Given the description of an element on the screen output the (x, y) to click on. 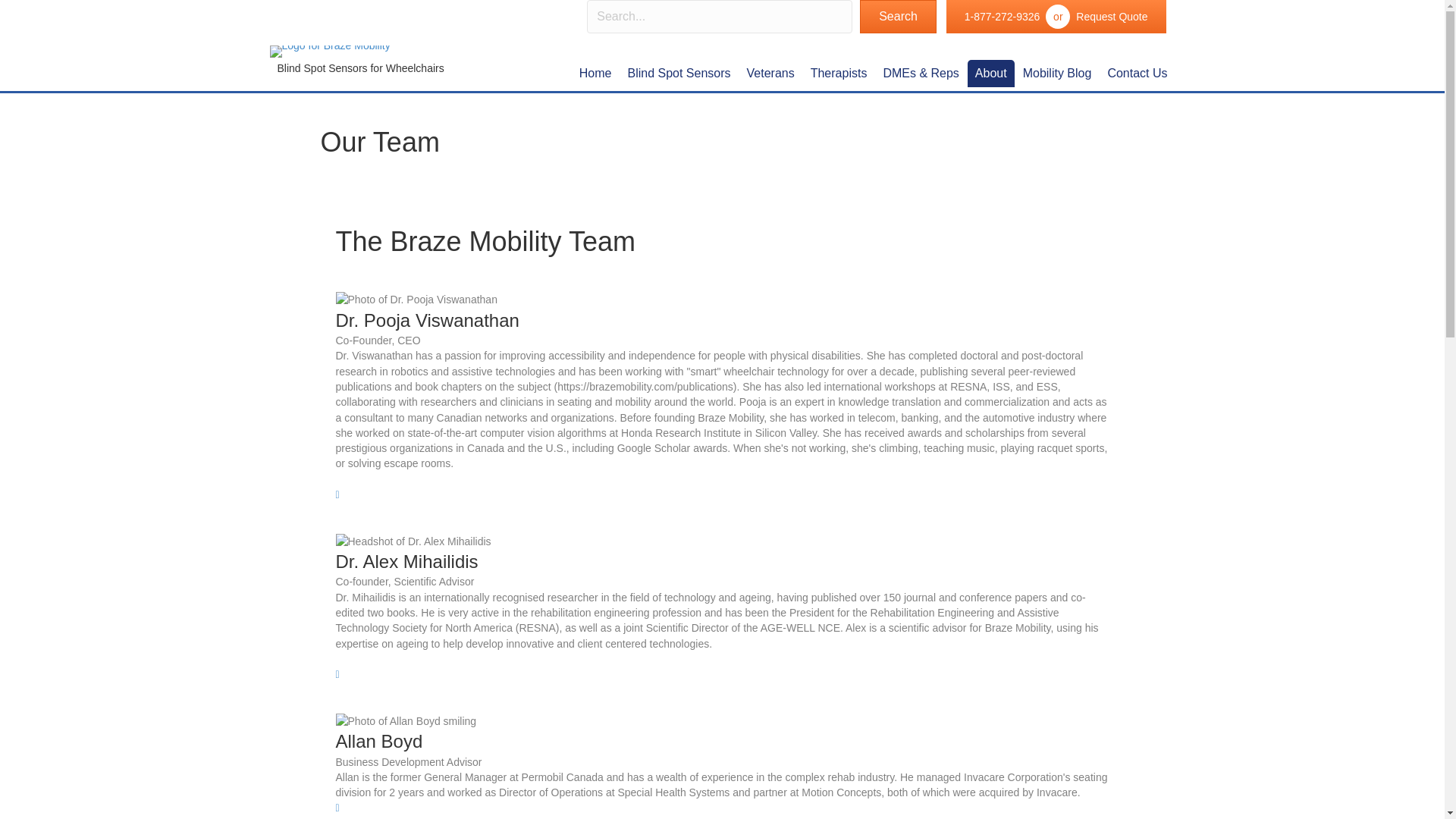
Contact Us (1136, 72)
Blind Spot Sensors (679, 72)
Dr. Alex Mihailidis (412, 540)
Therapists (839, 72)
Search (898, 16)
Home (596, 72)
Veterans (770, 72)
Braze Mobility Logo (329, 51)
About (991, 72)
1-877-272-9326 (1002, 16)
